Given the description of an element on the screen output the (x, y) to click on. 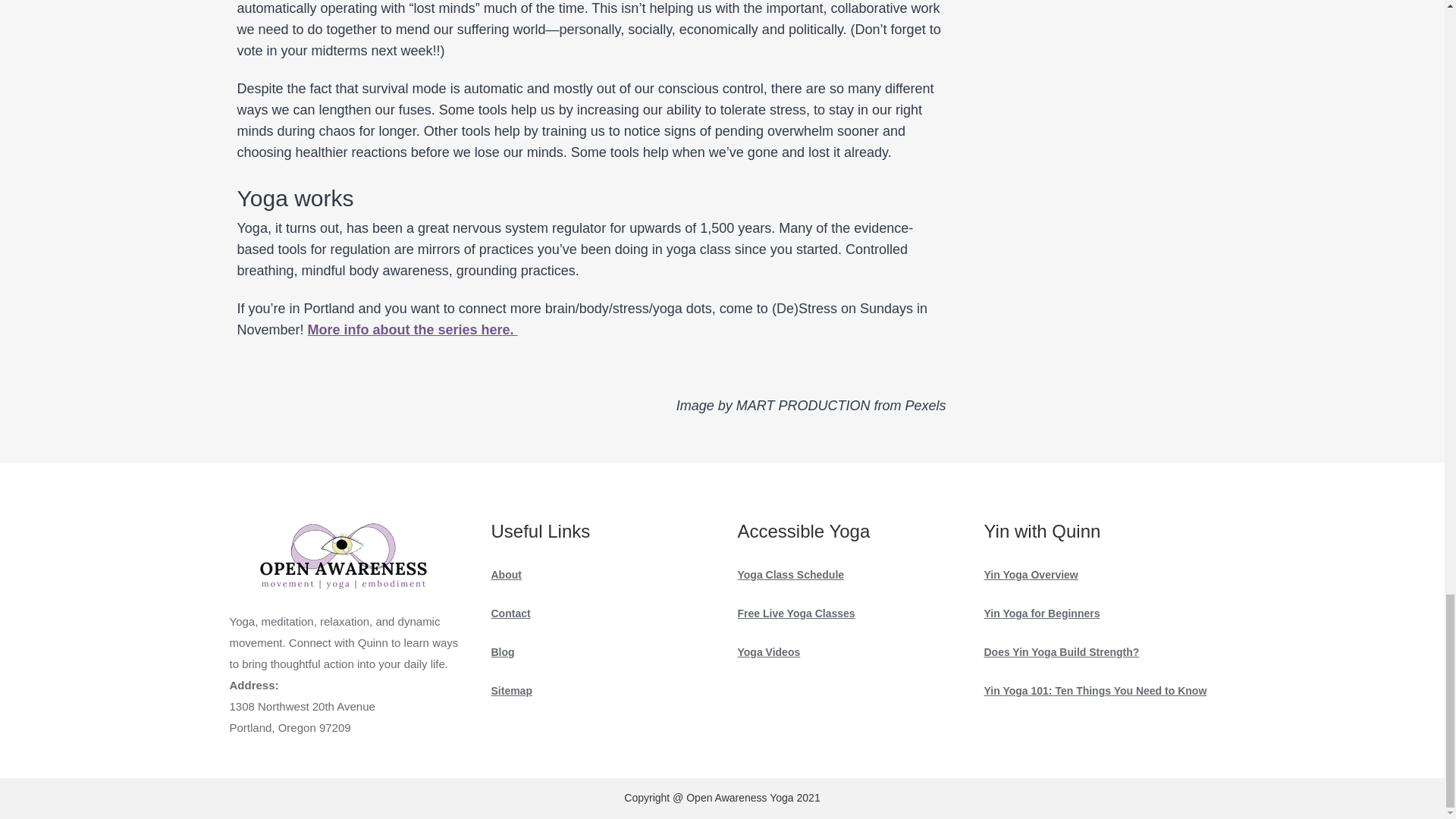
More info about the series here.  (412, 328)
